Given the description of an element on the screen output the (x, y) to click on. 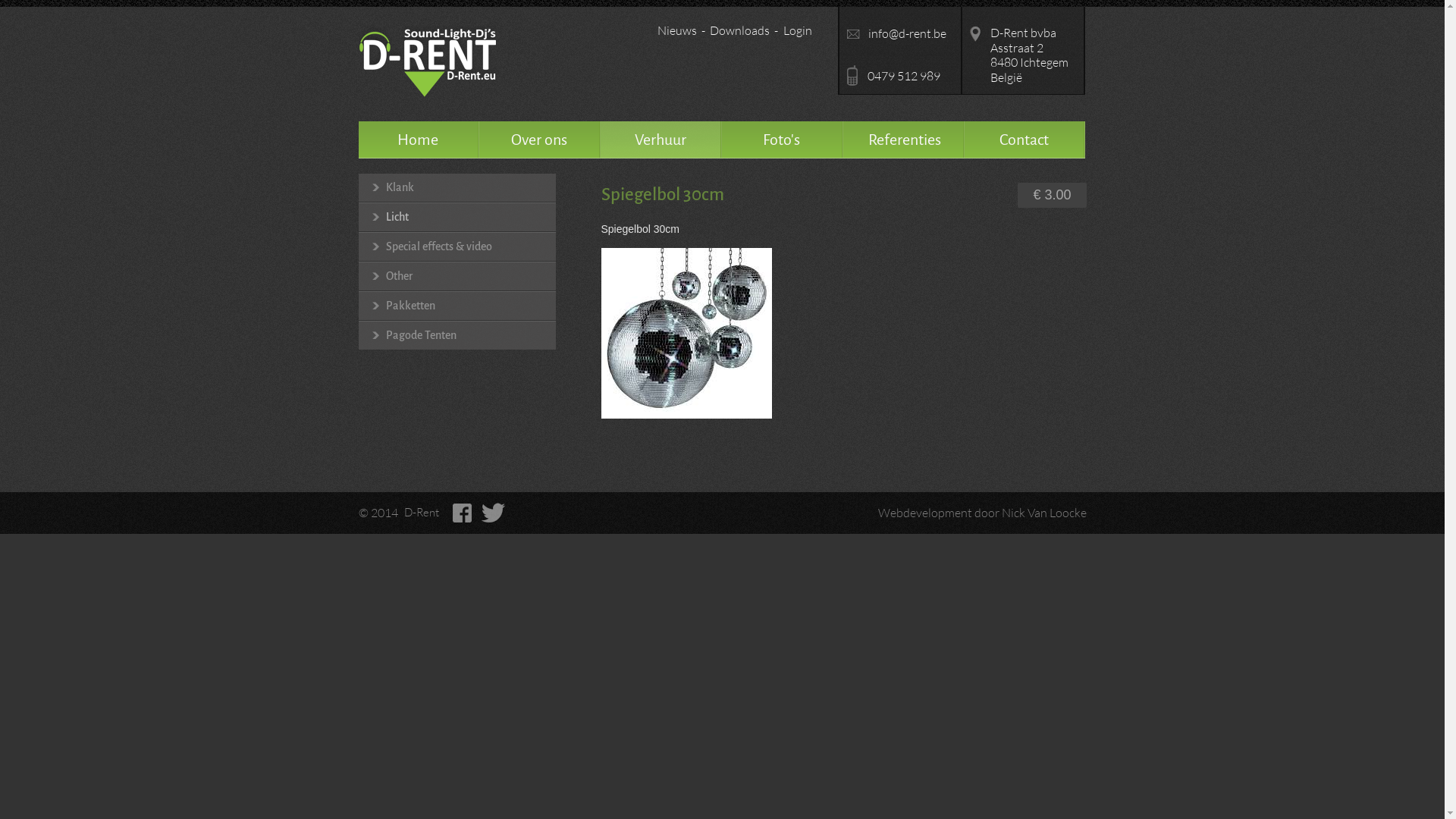
Foto's Element type: text (781, 139)
0479 512 989 Element type: text (899, 75)
Pakketten Element type: text (456, 305)
Other Element type: text (456, 276)
D-Rent Element type: text (426, 65)
Pagode Tenten Element type: text (456, 334)
Nieuws Element type: text (680, 31)
D-Rent bvba Asstraat 2 Element type: text (1022, 40)
Verhuur Element type: text (660, 139)
Facebook Element type: text (462, 513)
info@d-rent.be Element type: text (899, 33)
D-Rent Element type: text (420, 512)
Over ons Element type: text (539, 139)
Webdevelopment door Nick Van Loocke Element type: text (958, 512)
Home Element type: text (417, 139)
Contact Element type: text (1024, 139)
Login Element type: text (799, 31)
Twitter Element type: text (492, 512)
Licht Element type: text (456, 217)
Downloads Element type: text (743, 31)
Special effects & video Element type: text (456, 246)
Referenties Element type: text (903, 139)
Klank Element type: text (456, 187)
